Given the description of an element on the screen output the (x, y) to click on. 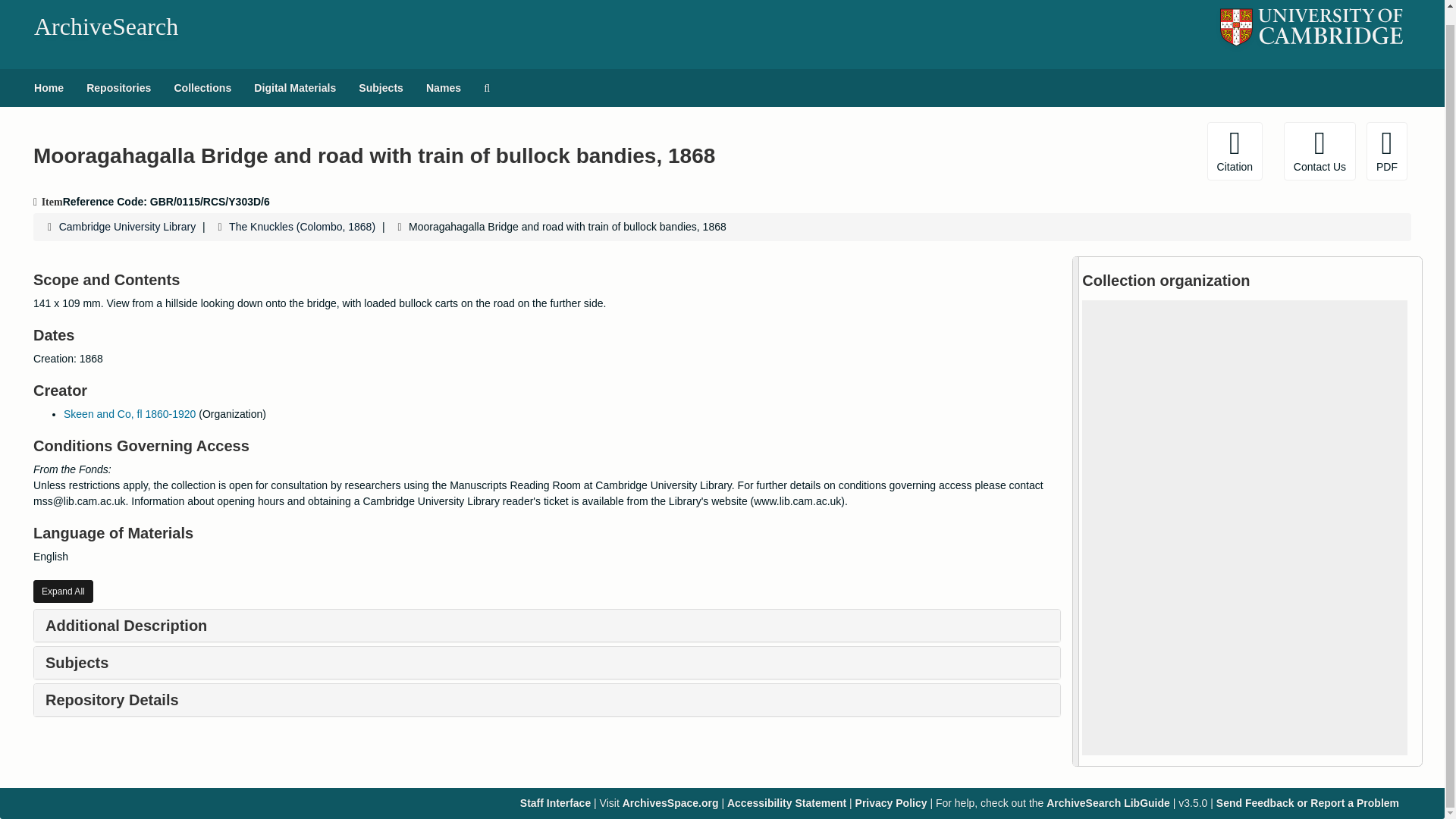
Citation (1234, 151)
Repository Details (112, 699)
ArchivesSpace.org (671, 802)
Contact Us (1319, 151)
Subjects (380, 87)
Subjects (76, 662)
Privacy Policy (891, 802)
Privacy Policy (891, 802)
Collections (202, 87)
Page Actions (1130, 151)
